Given the description of an element on the screen output the (x, y) to click on. 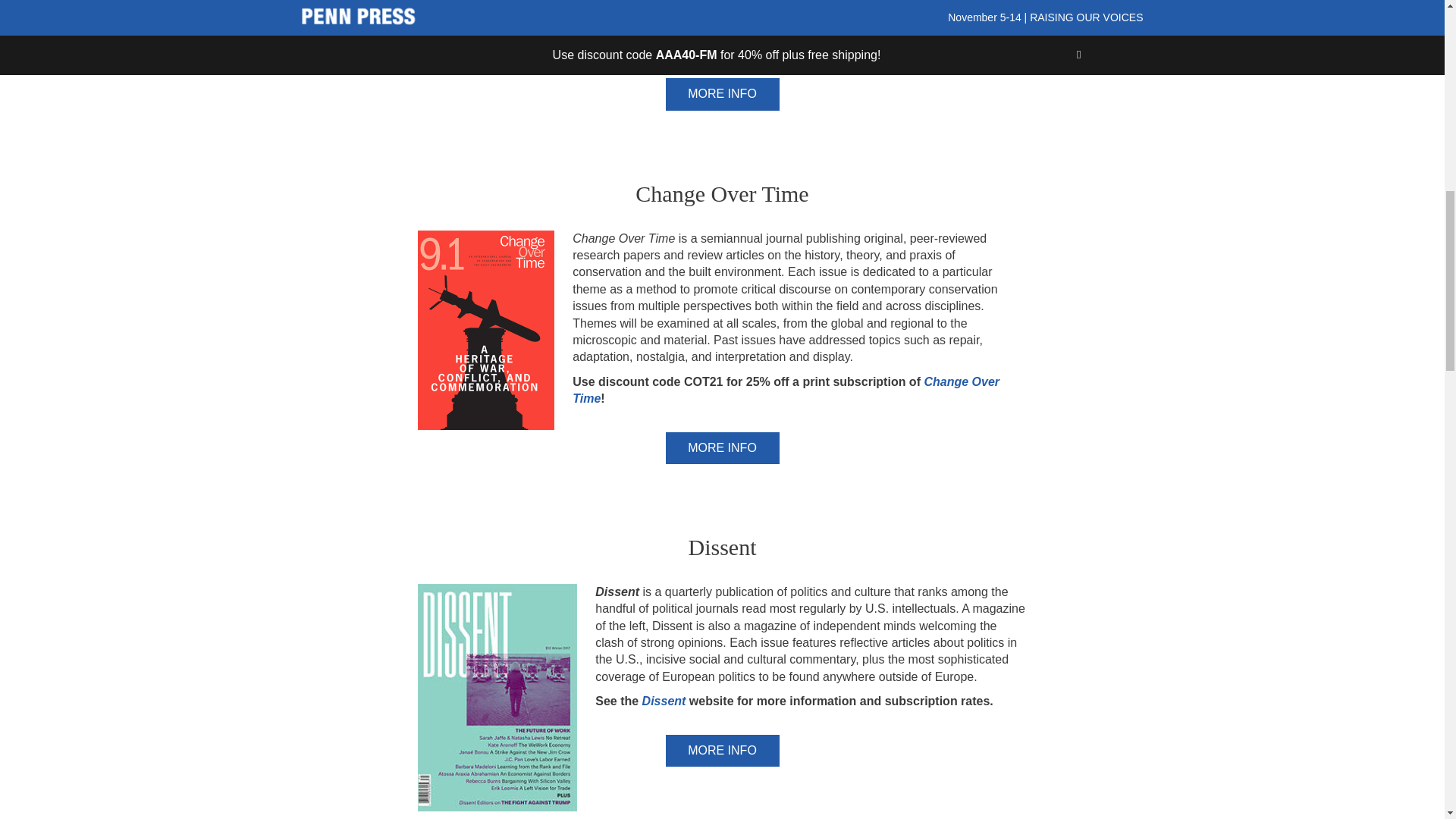
Dissent (663, 700)
MORE INFO (721, 448)
Change Over Time (785, 389)
Capitalism: A Journal of History and Economics (708, 35)
MORE INFO (721, 750)
MORE INFO (721, 93)
